Given the description of an element on the screen output the (x, y) to click on. 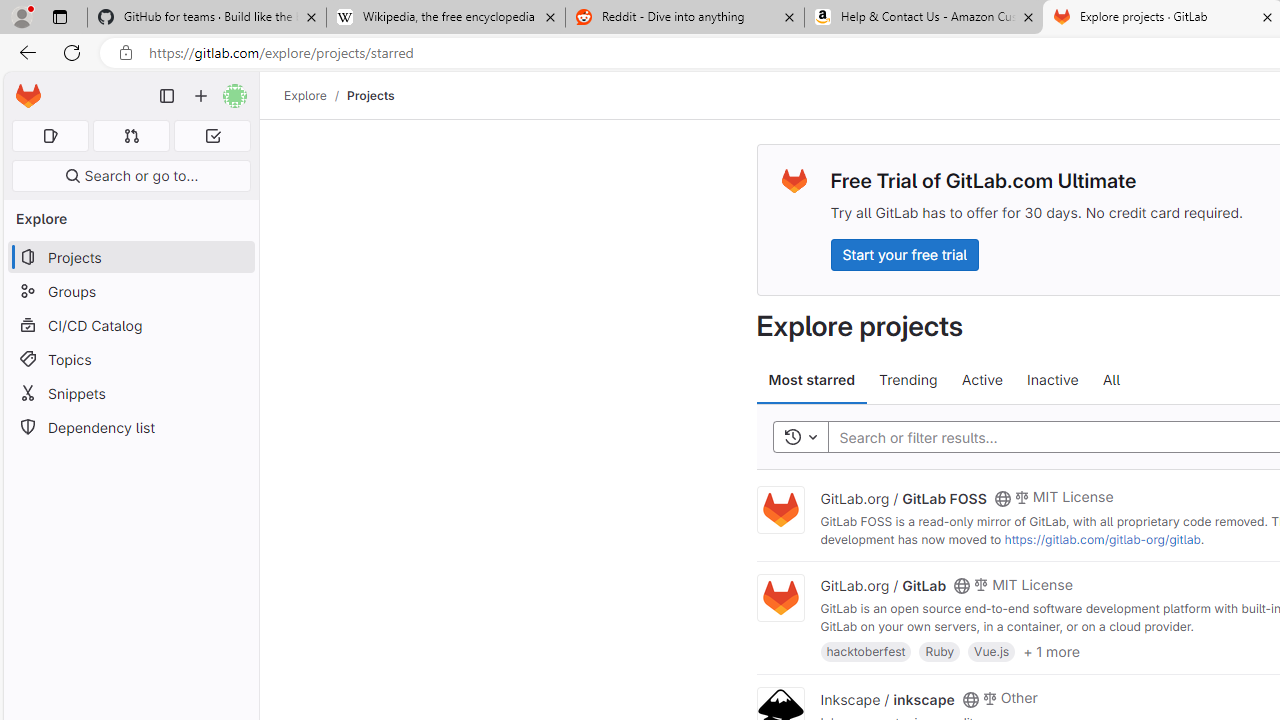
Projects (370, 95)
Assigned issues 0 (50, 136)
https://gitlab.com/gitlab-org/gitlab (1101, 539)
Projects (370, 95)
Explore (305, 95)
